Given the description of an element on the screen output the (x, y) to click on. 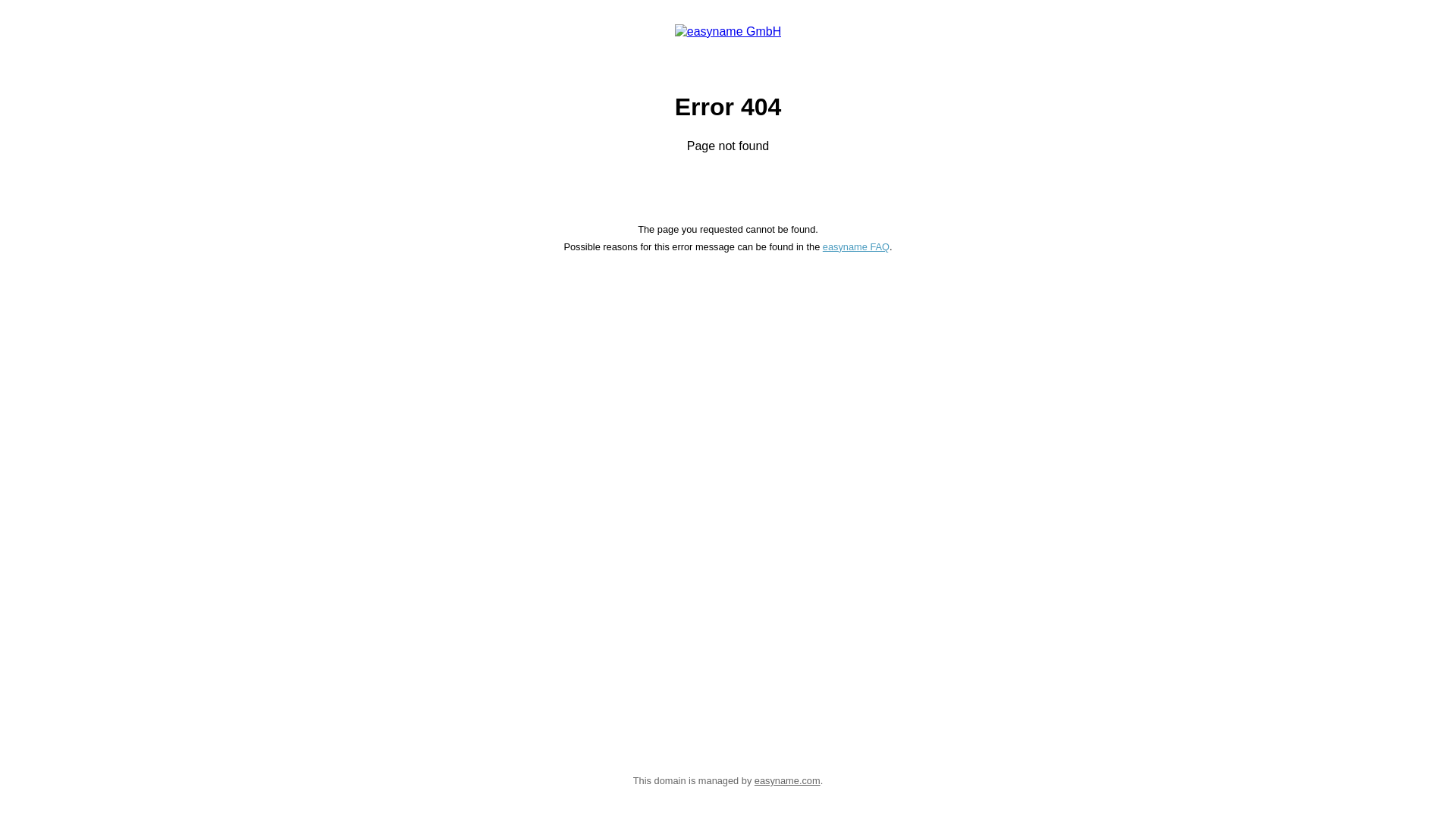
easyname FAQ Element type: text (855, 246)
easyname GmbH Element type: hover (727, 37)
easyname.com Element type: text (787, 780)
